Given the description of an element on the screen output the (x, y) to click on. 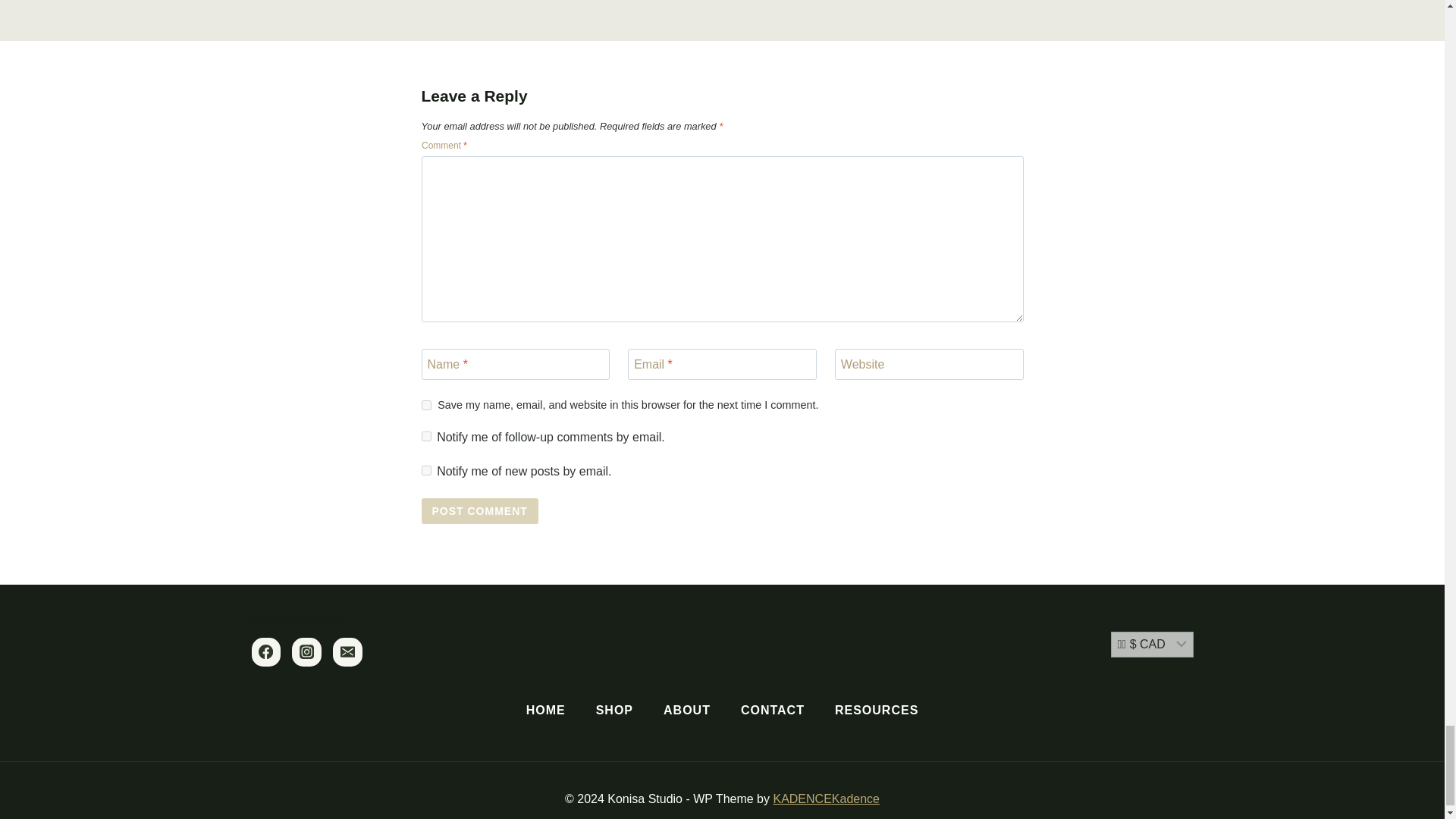
subscribe (426, 436)
Post Comment (480, 510)
subscribe (426, 470)
yes (426, 405)
